Given the description of an element on the screen output the (x, y) to click on. 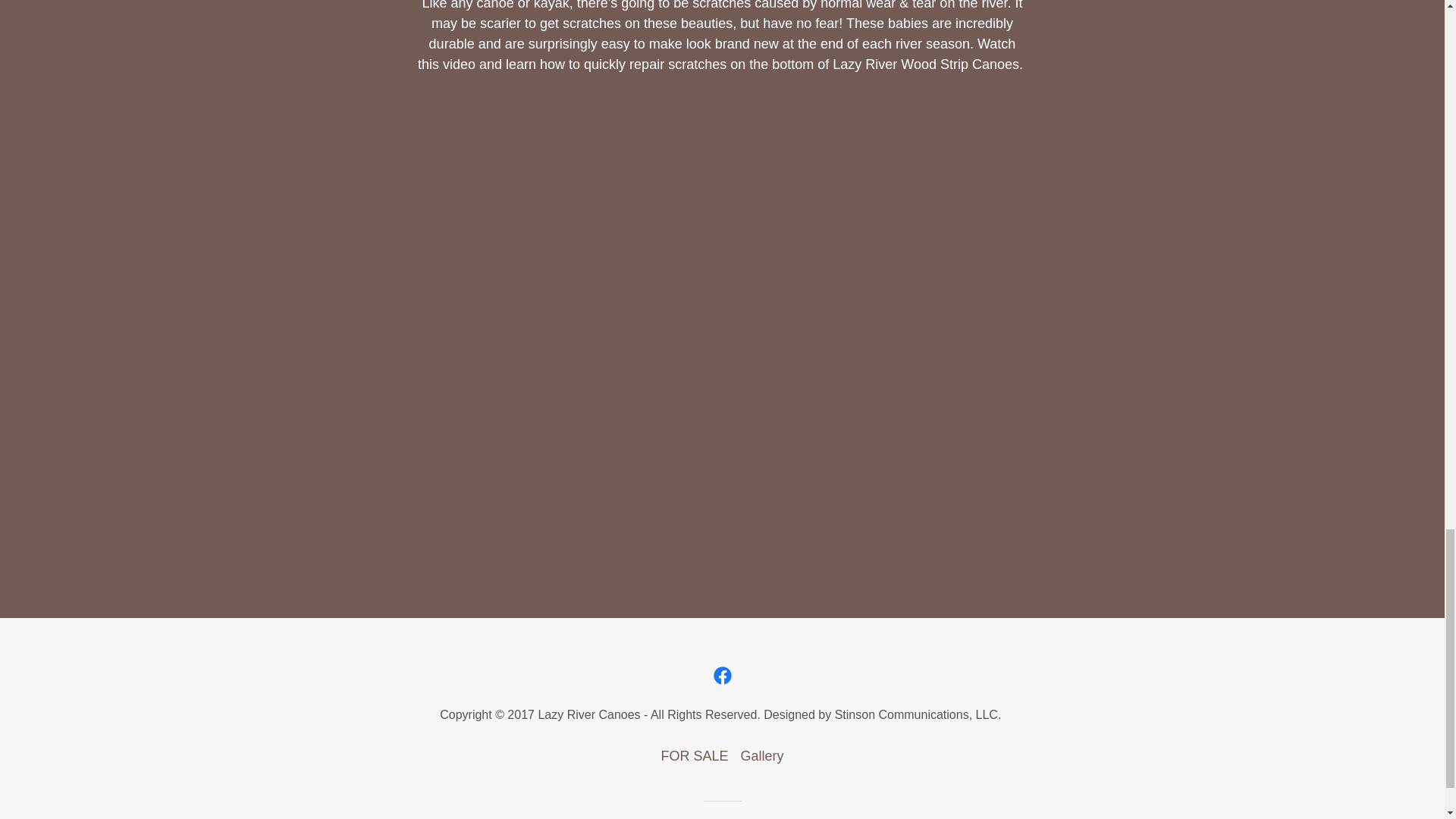
FOR SALE (693, 756)
Gallery (761, 756)
